Given the description of an element on the screen output the (x, y) to click on. 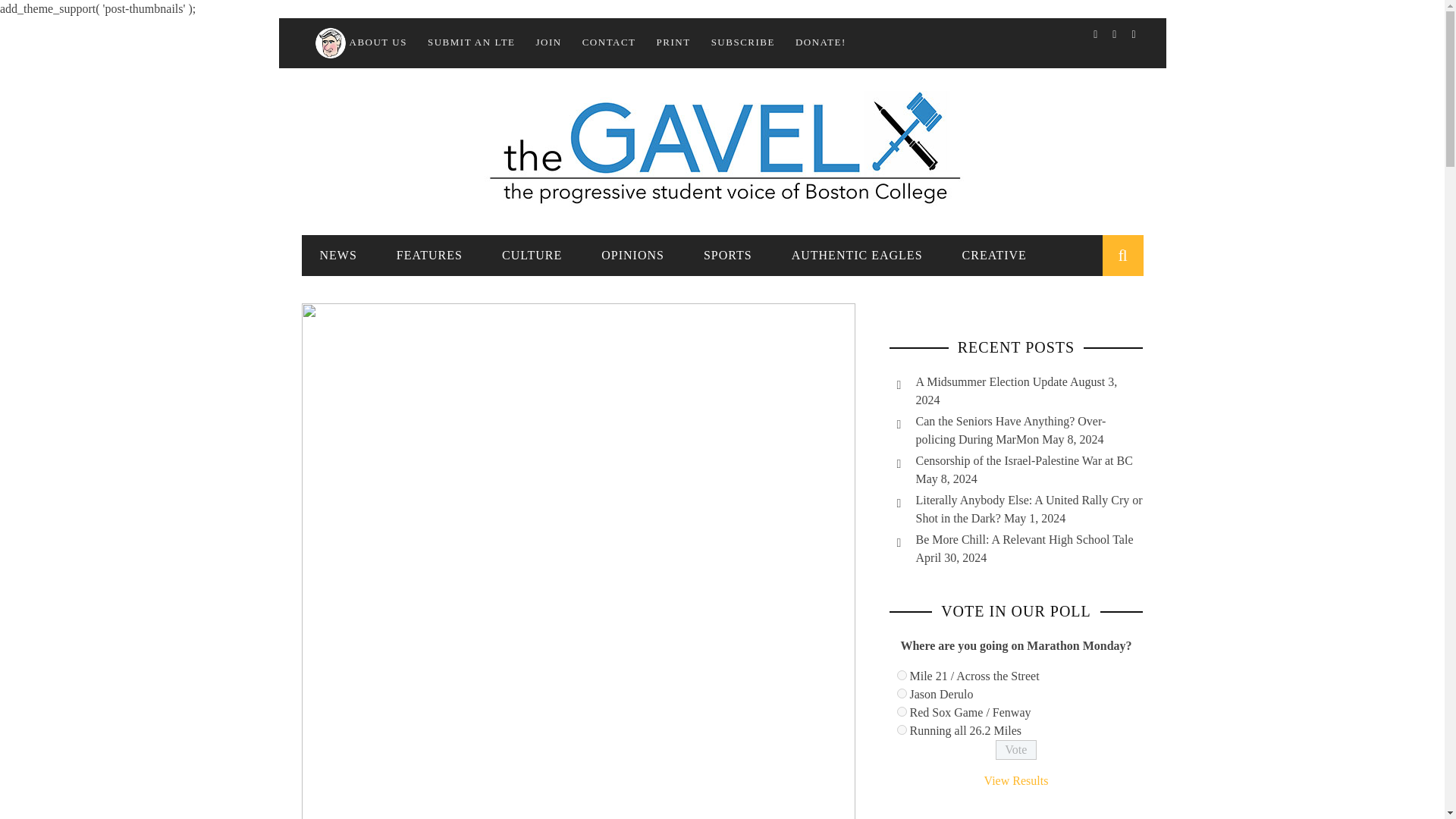
189 (900, 711)
187 (900, 675)
   Vote    (1015, 750)
ABOUT US (360, 41)
190 (900, 729)
JOIN (548, 41)
View Results Of This Poll (1016, 780)
188 (900, 693)
SUBMIT AN LTE (471, 41)
